Given the description of an element on the screen output the (x, y) to click on. 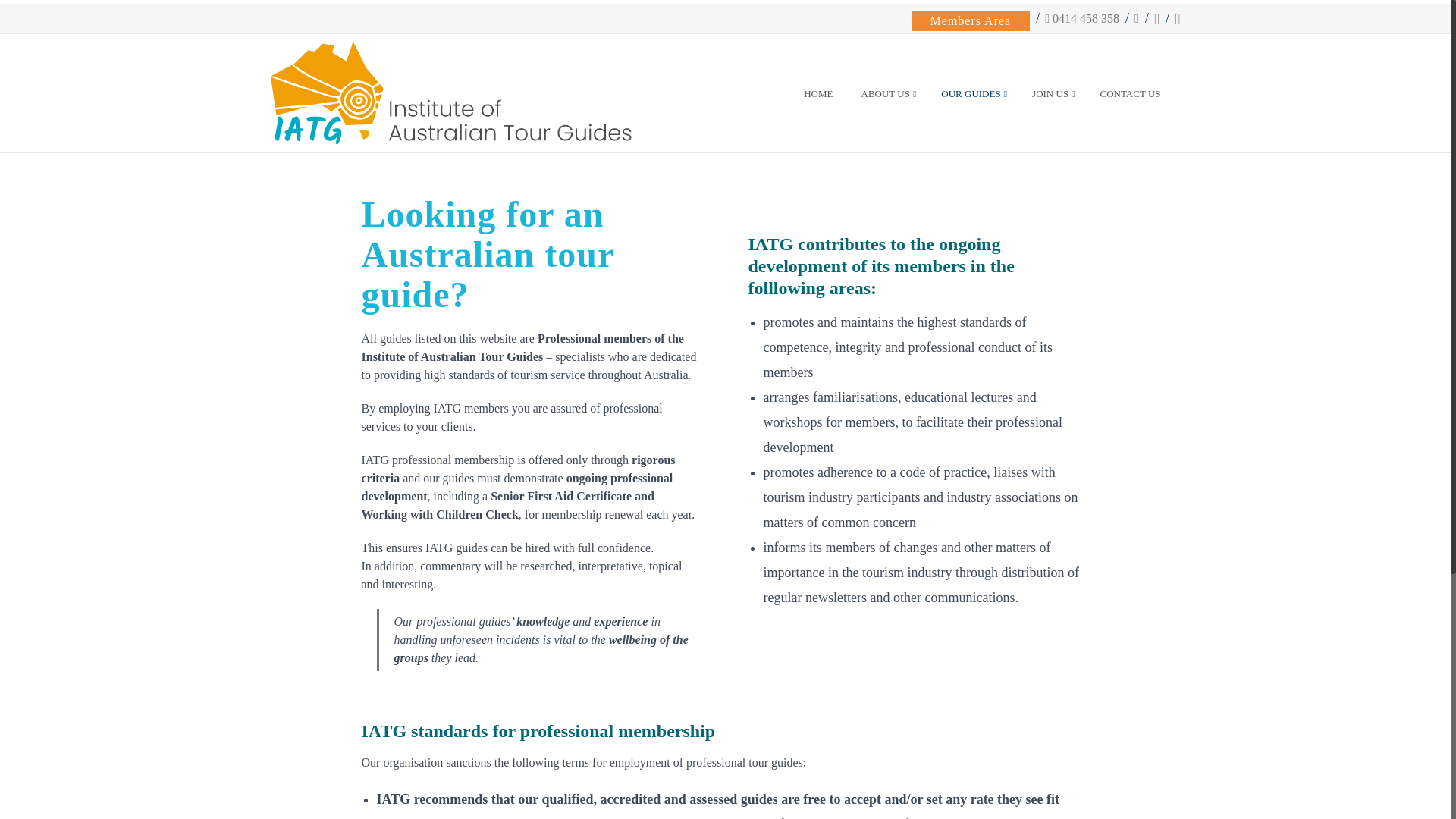
0414 458 358 (1082, 18)
OUR GUIDES (972, 92)
IATG (450, 92)
Members Area (970, 21)
ABOUT US (887, 92)
CONTACT US (1131, 92)
